Given the description of an element on the screen output the (x, y) to click on. 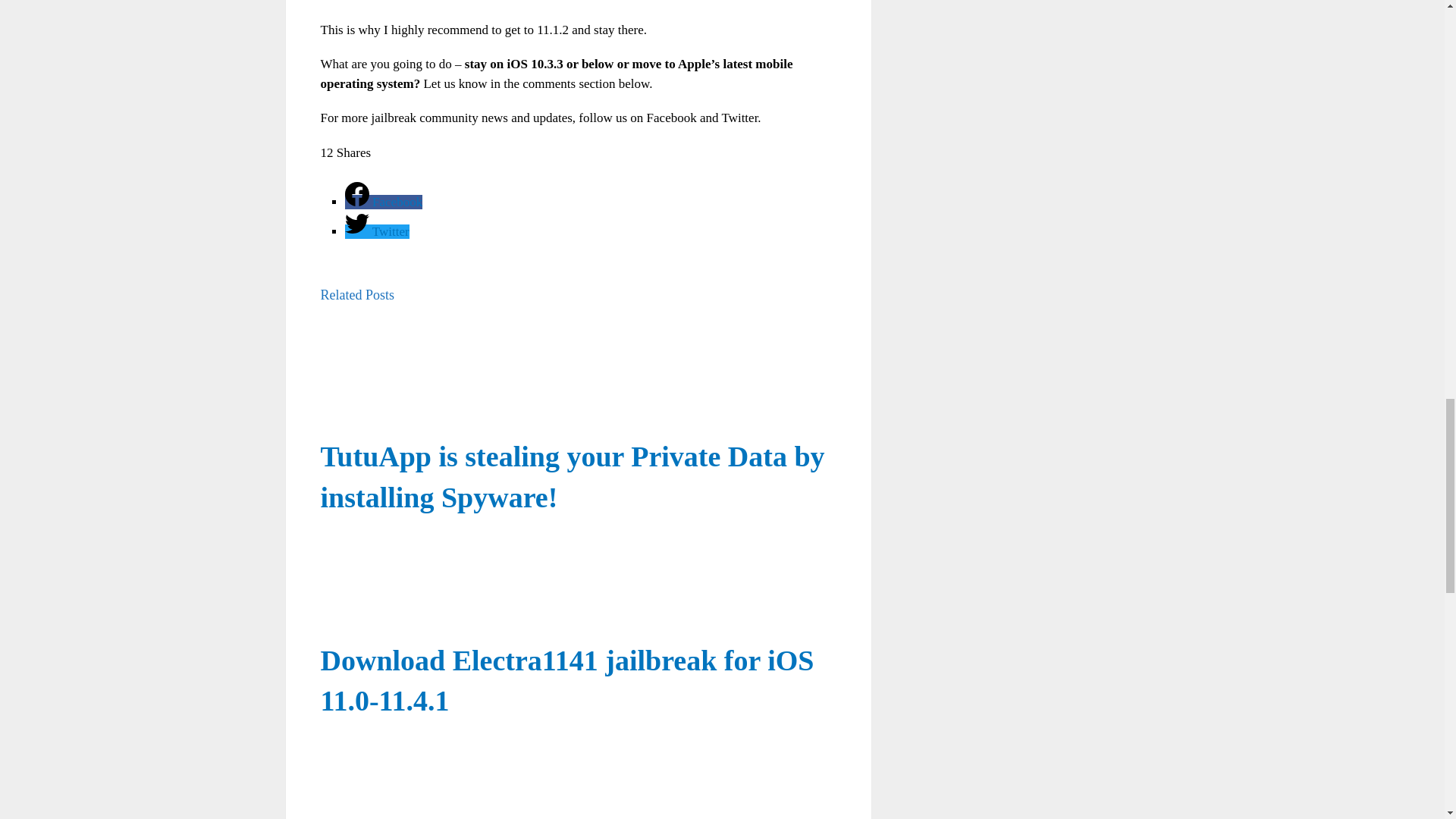
Download Electra1141 jailbreak for iOS 11.0-11.4.1 (577, 583)
TutuApp is stealing your Private Data by installing Spyware! (577, 379)
Download Electra1141 jailbreak for iOS 11.0-11.4.1 (566, 680)
Facebook (383, 201)
TutuApp is stealing your Private Data by installing Spyware! (572, 476)
TutuApp is stealing your Private Data by installing Spyware! (572, 476)
Twitter (377, 231)
Download Electra1141 jailbreak for iOS 11.0-11.4.1 (566, 680)
